Given the description of an element on the screen output the (x, y) to click on. 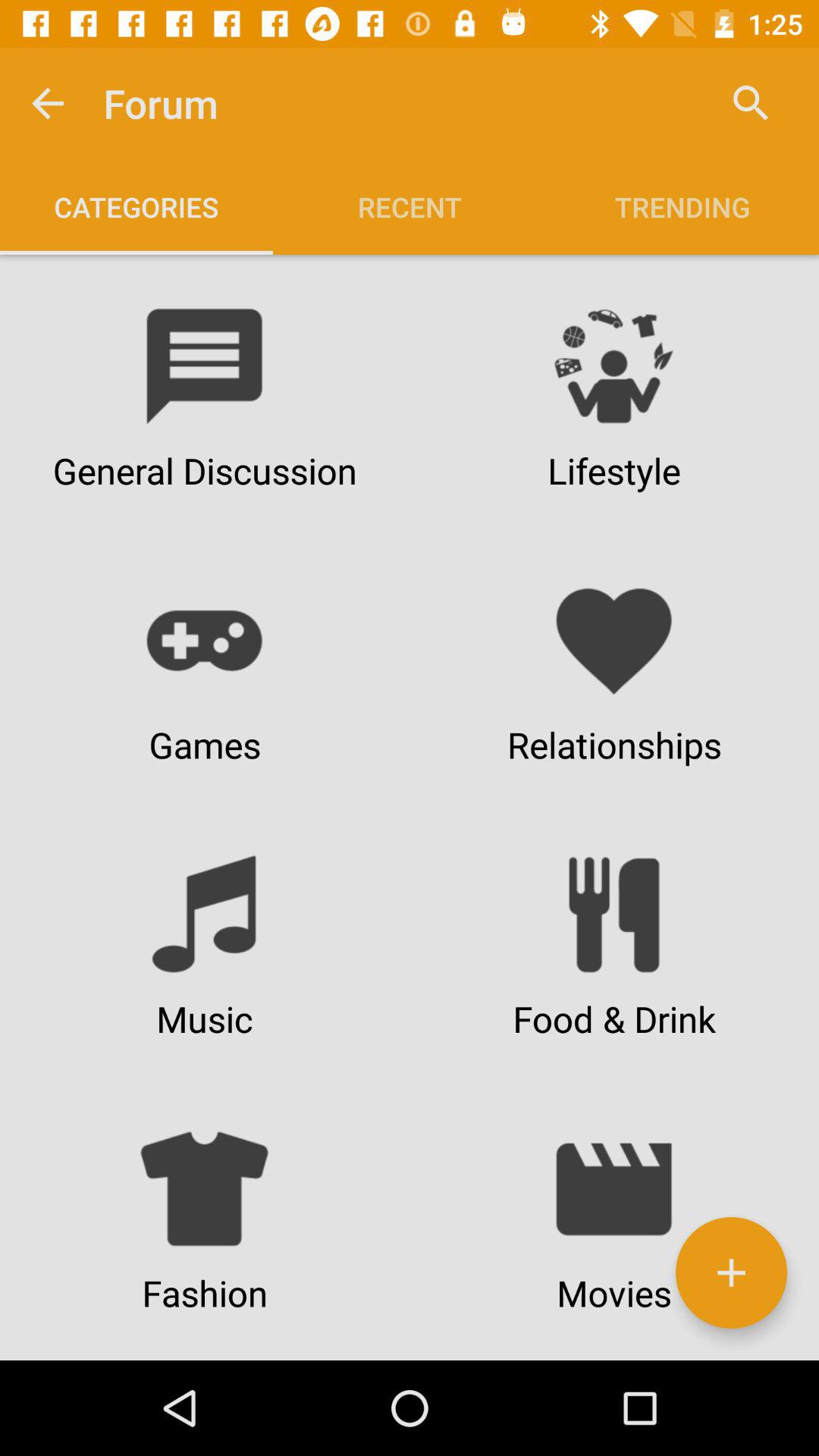
add to categories (731, 1272)
